Given the description of an element on the screen output the (x, y) to click on. 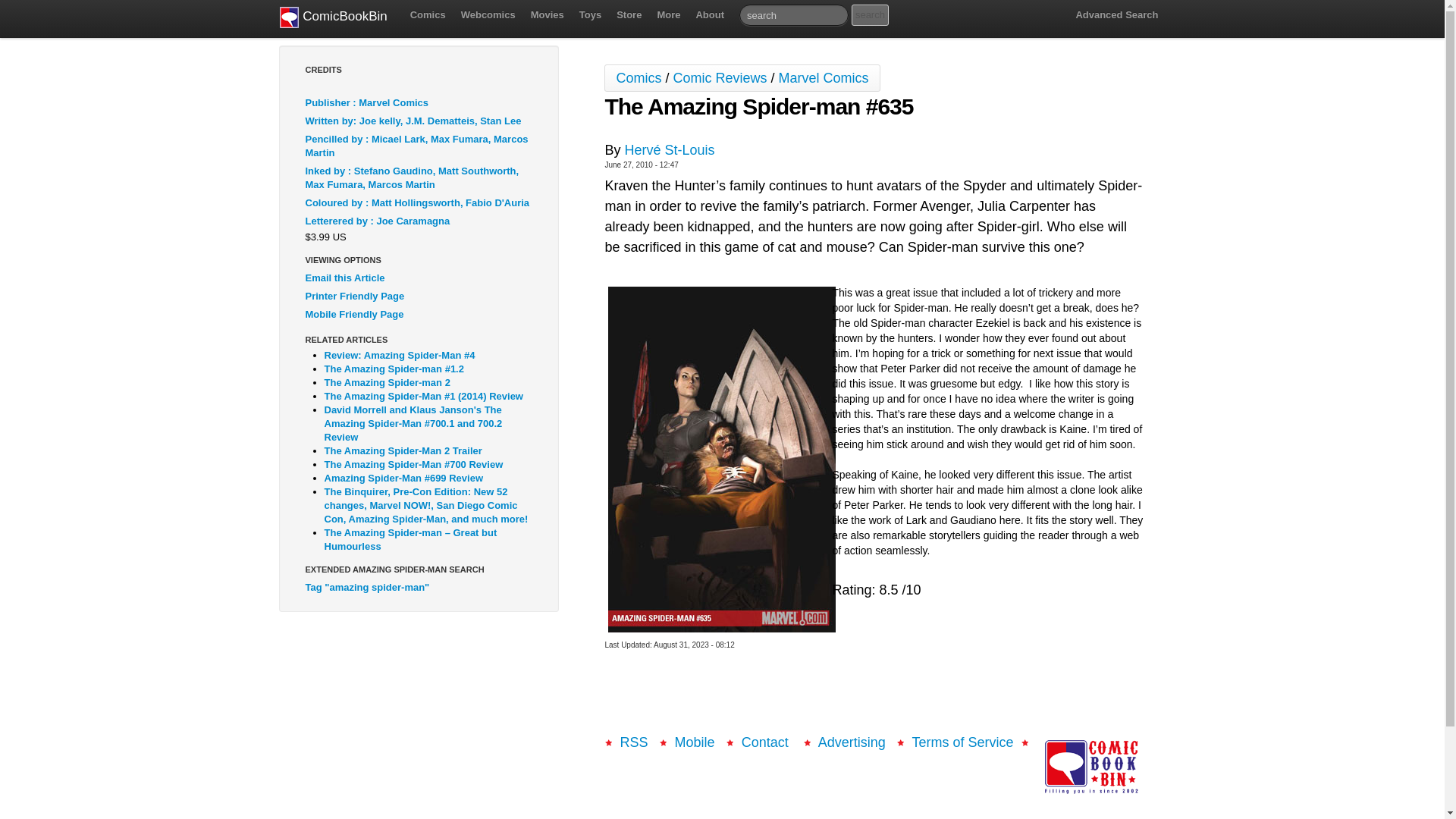
Mobile (694, 742)
Movies (547, 15)
About (709, 15)
RSS (633, 742)
More (668, 15)
Toys (590, 15)
 ComicBookBin (333, 18)
search (869, 14)
Comics (427, 15)
Store (628, 15)
